Given the description of an element on the screen output the (x, y) to click on. 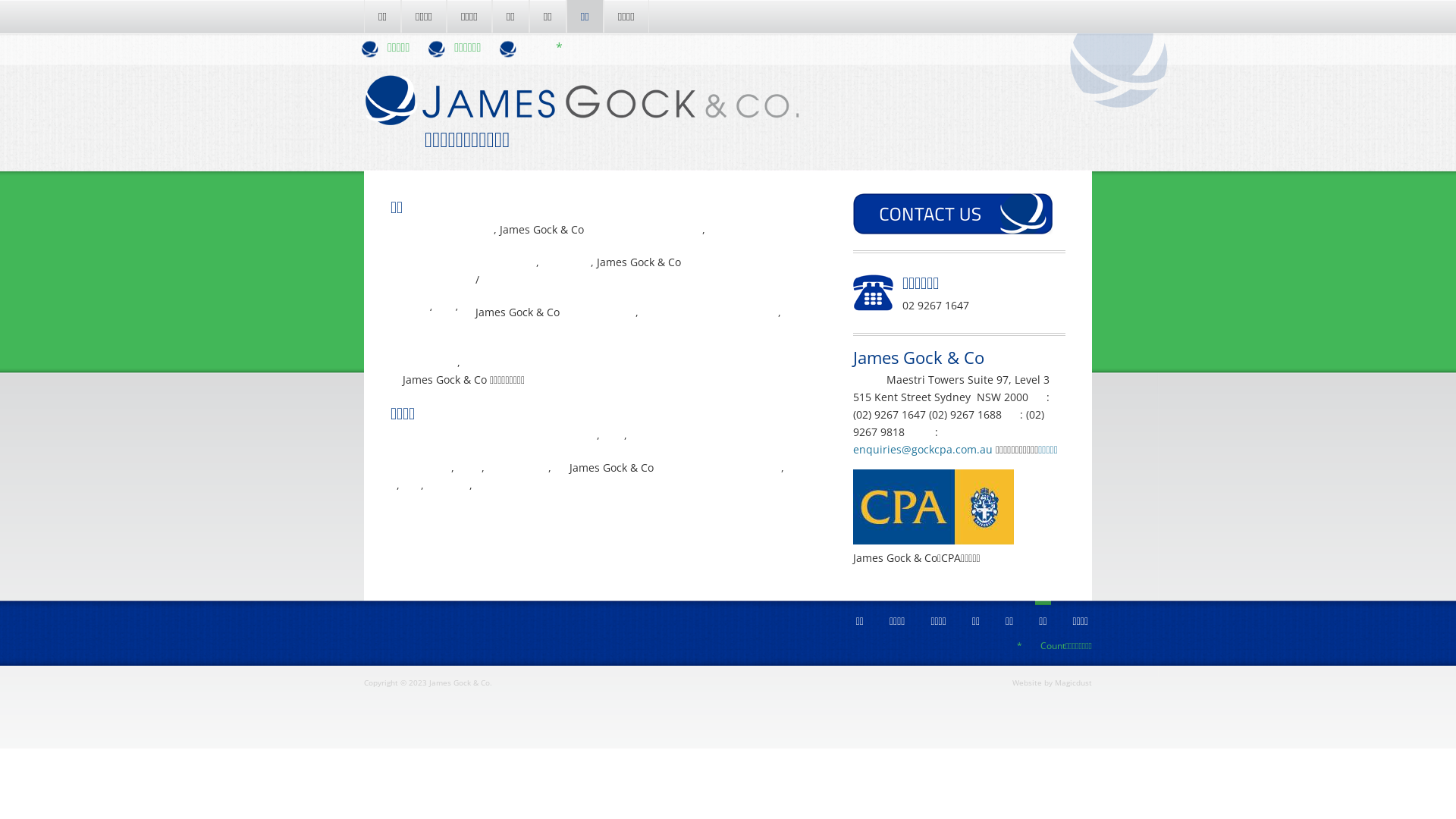
James Gock & Co. Element type: text (582, 114)
enquiries@gockcpa.com.au Element type: text (922, 449)
Magicdust Element type: text (1073, 682)
